Given the description of an element on the screen output the (x, y) to click on. 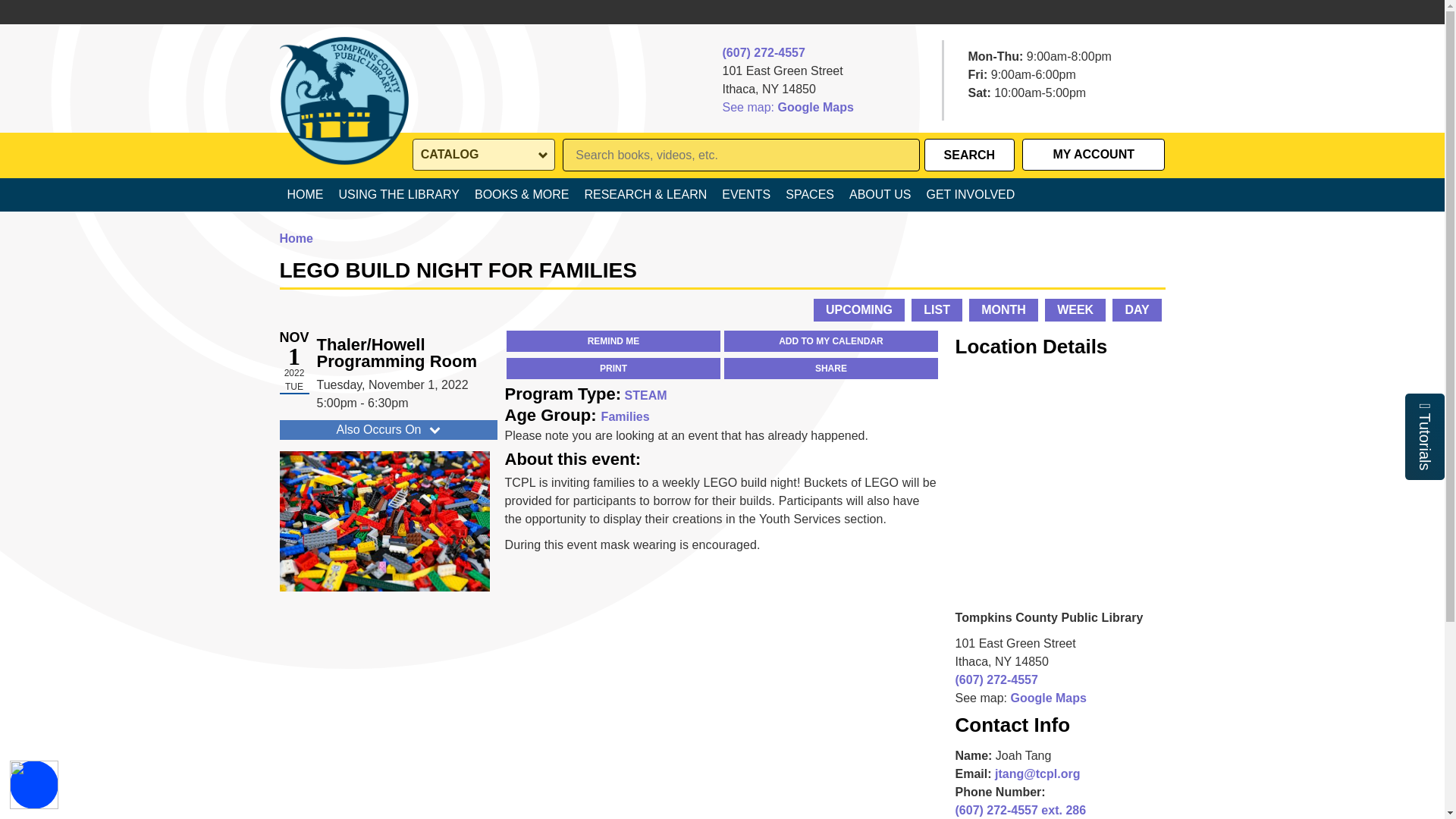
Remind Me (612, 341)
Search (969, 154)
Home (343, 74)
Add To My Calendar (830, 341)
MY ACCOUNT (1093, 154)
Share this event (830, 368)
HOME (304, 194)
Search (969, 154)
Search (969, 154)
Google Maps (815, 107)
Accessibility Menu (34, 784)
Print this event (612, 368)
